Given the description of an element on the screen output the (x, y) to click on. 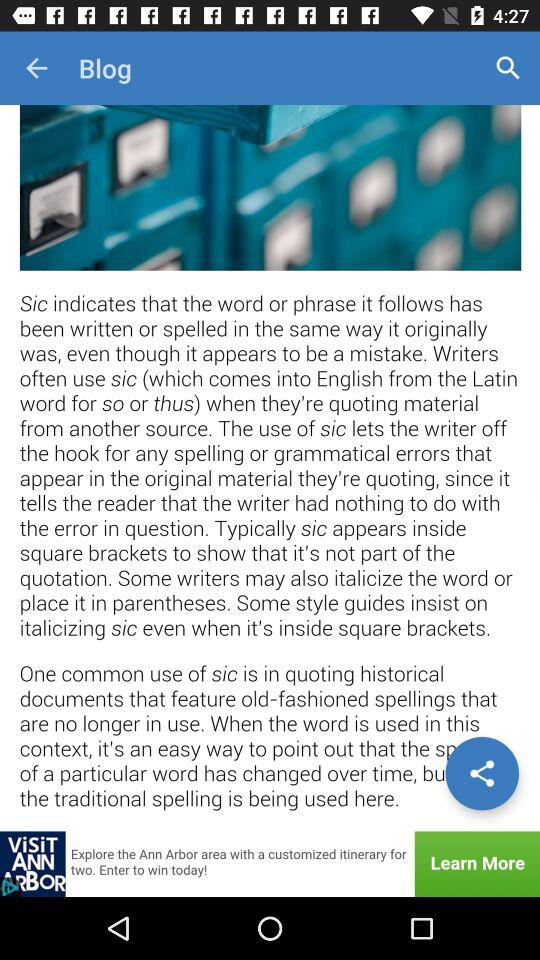
copy text (270, 468)
